Given the description of an element on the screen output the (x, y) to click on. 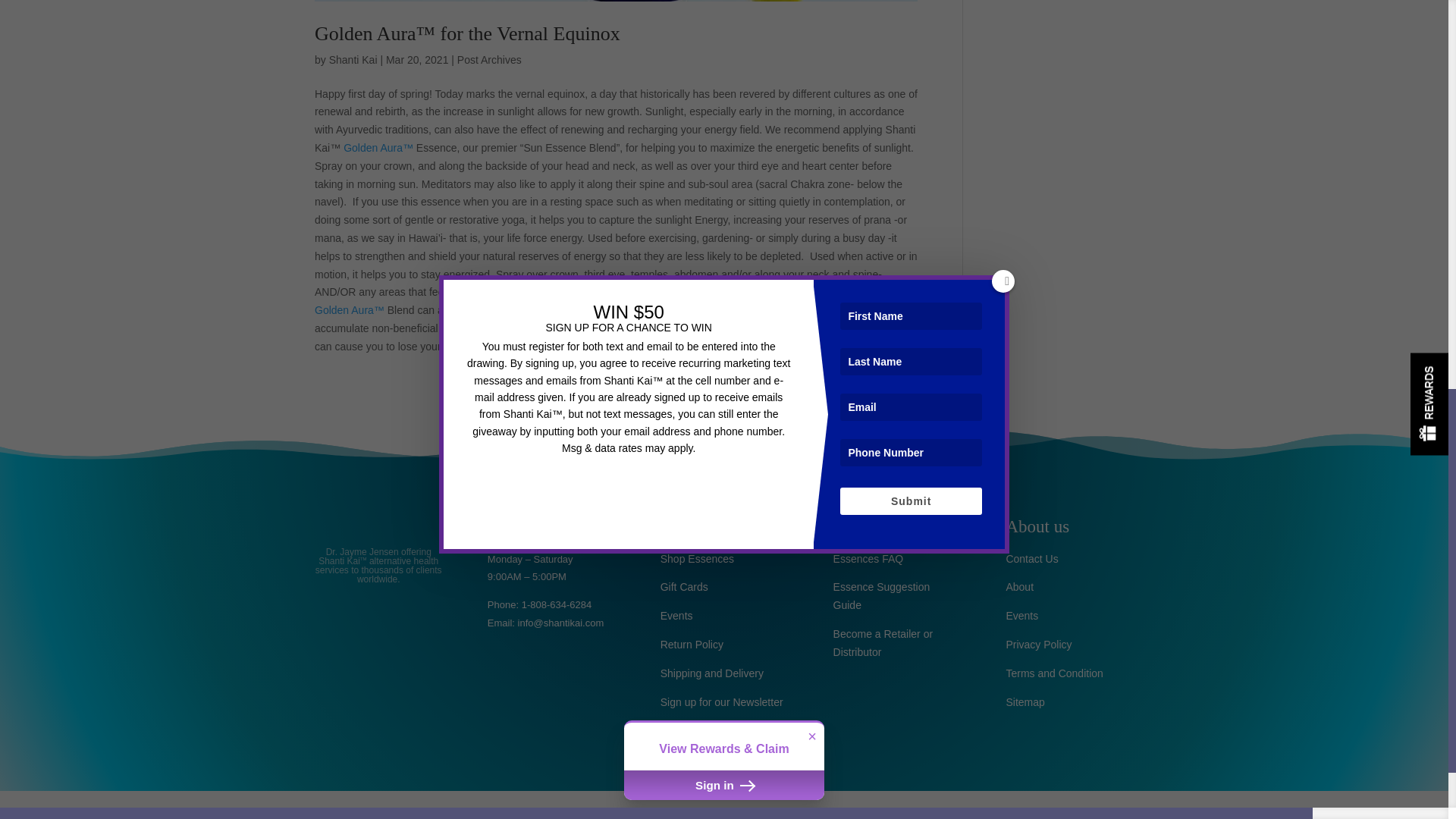
Posts by Shanti Kai (353, 60)
DMCA.com Protection Status (550, 758)
footer-white-logo (379, 520)
